Given the description of an element on the screen output the (x, y) to click on. 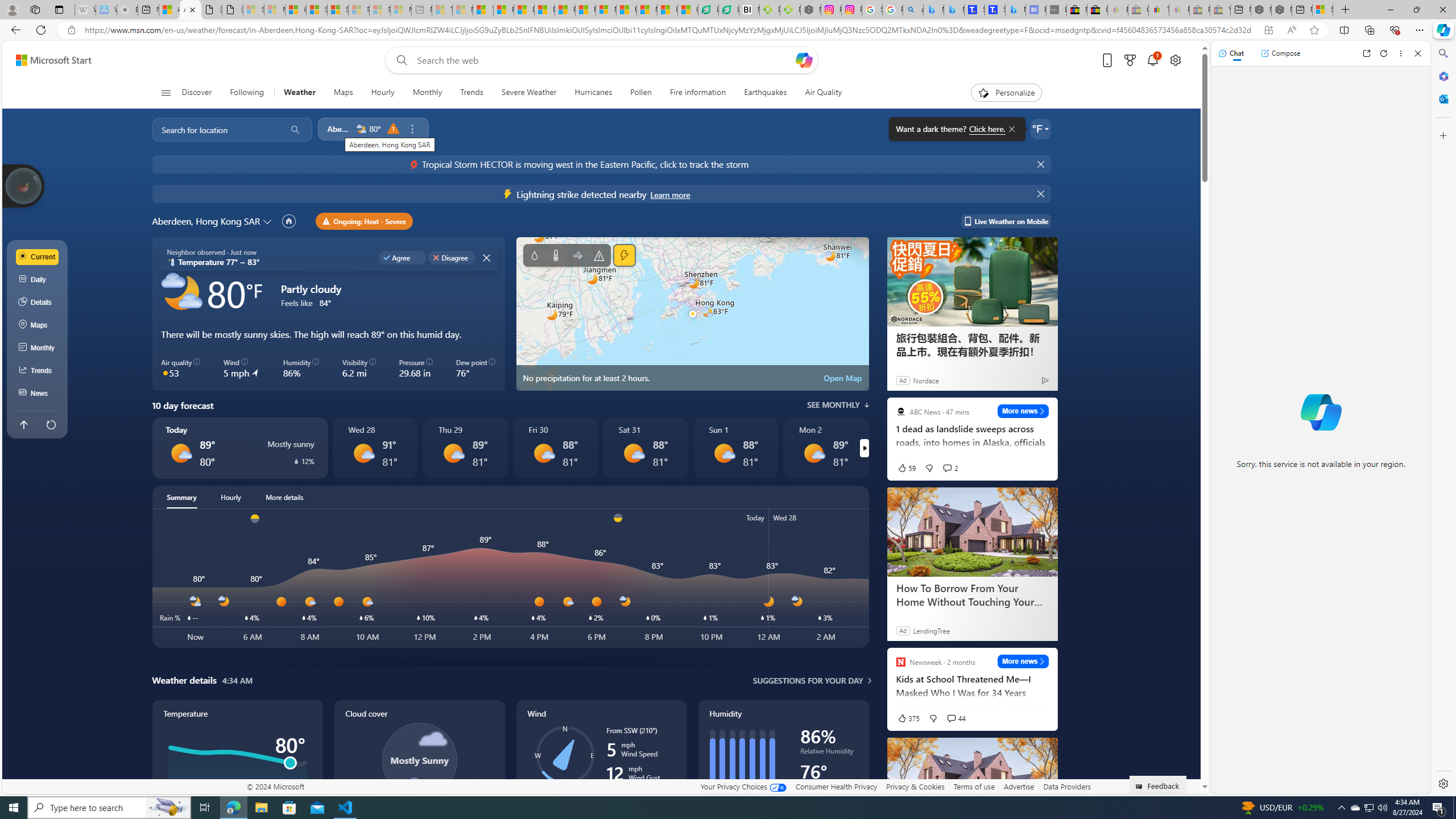
Disagree (452, 257)
Suggestions for your day (807, 680)
Compose (1280, 52)
Class: BubbleMessageCloseIcon-DS-EntryPoint1-1 (1010, 128)
Pollen (641, 92)
Hide (1041, 194)
Search for location (215, 128)
Dew point (828, 788)
LendingTree (930, 630)
Terms of use (973, 786)
